Given the description of an element on the screen output the (x, y) to click on. 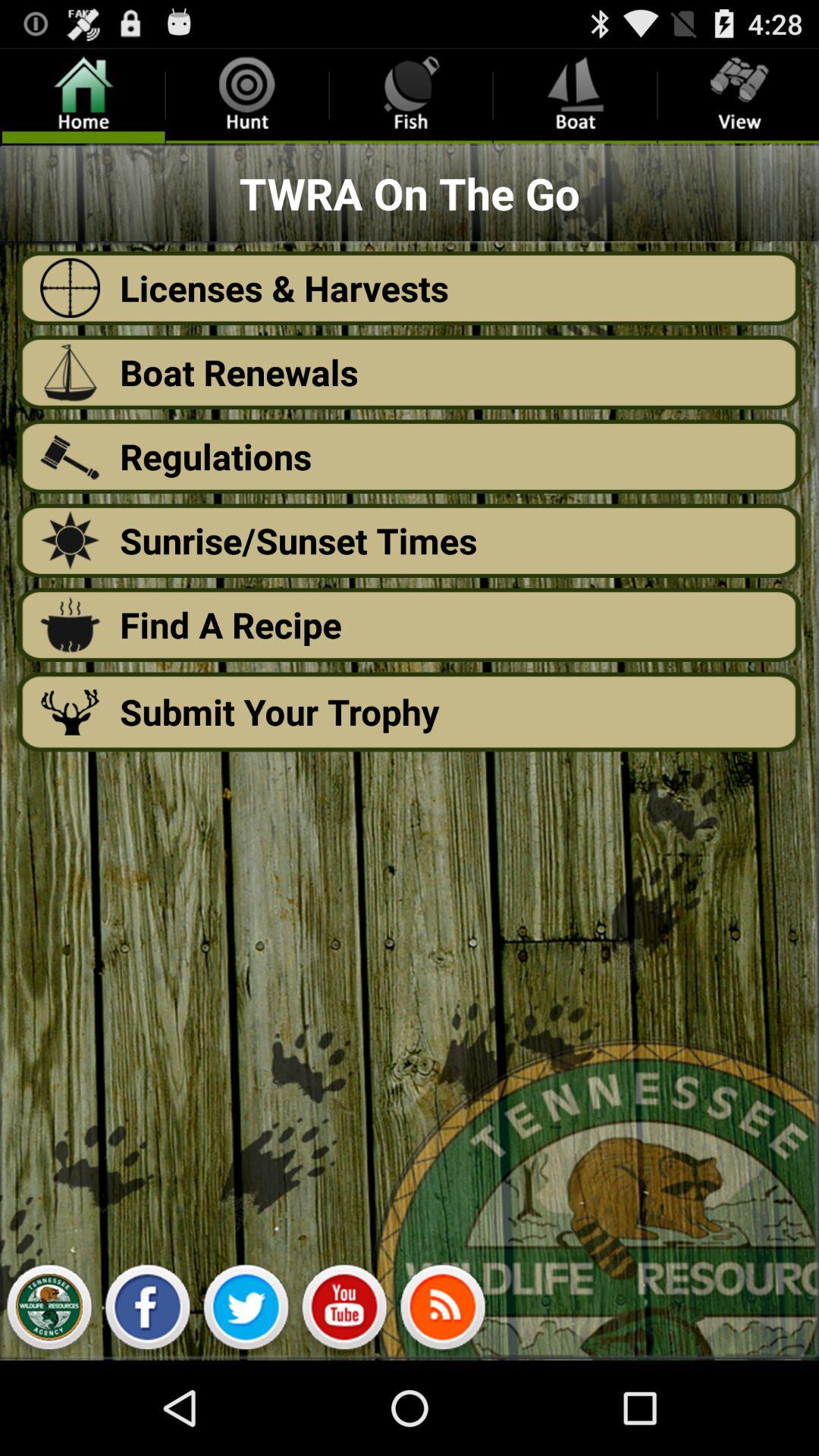
press the app below the submit your trophy icon (344, 1311)
